Given the description of an element on the screen output the (x, y) to click on. 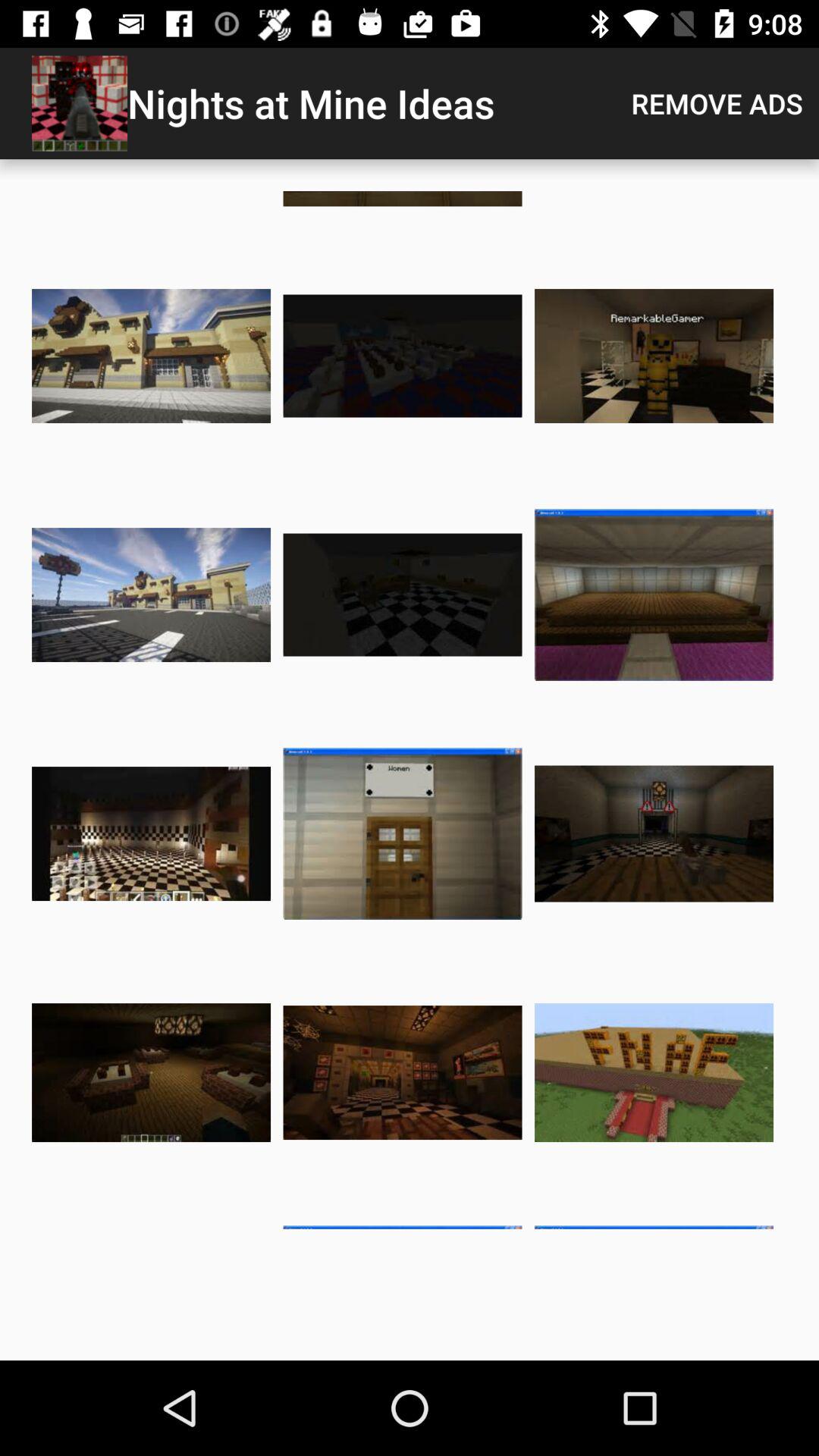
turn on the remove ads icon (717, 103)
